Given the description of an element on the screen output the (x, y) to click on. 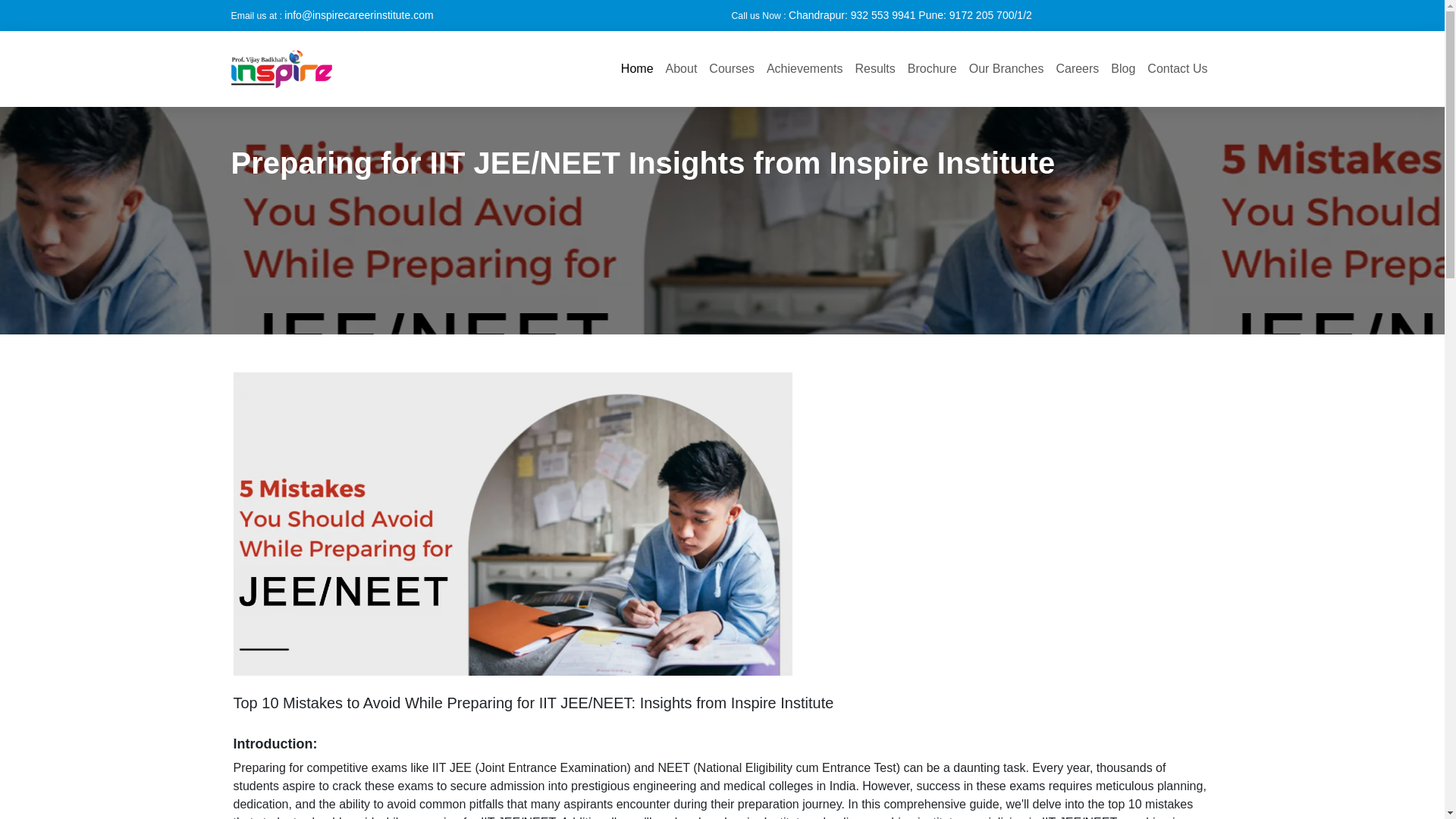
Contact Us (1176, 69)
Our Branches (1005, 69)
About (681, 69)
Courses (731, 69)
Achievements (804, 69)
Home (636, 69)
Blog (1123, 69)
Results (874, 69)
Careers (1077, 69)
Brochure (931, 69)
